Given the description of an element on the screen output the (x, y) to click on. 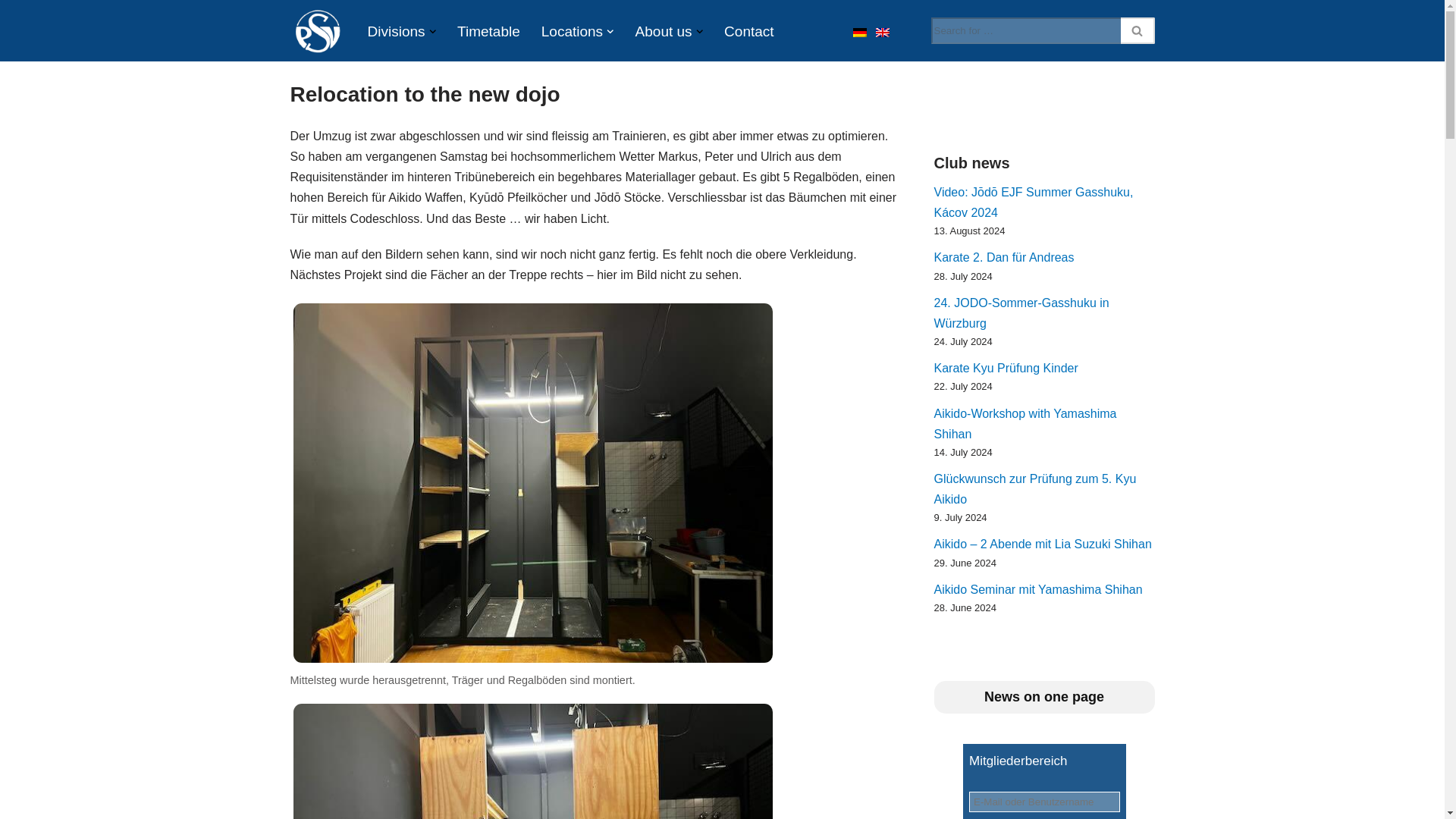
Timetable (488, 31)
German (858, 31)
Locations (571, 31)
English (881, 31)
Zum Inhalt springen (11, 31)
Divisions (395, 31)
About us (663, 31)
Contact (748, 31)
